Given the description of an element on the screen output the (x, y) to click on. 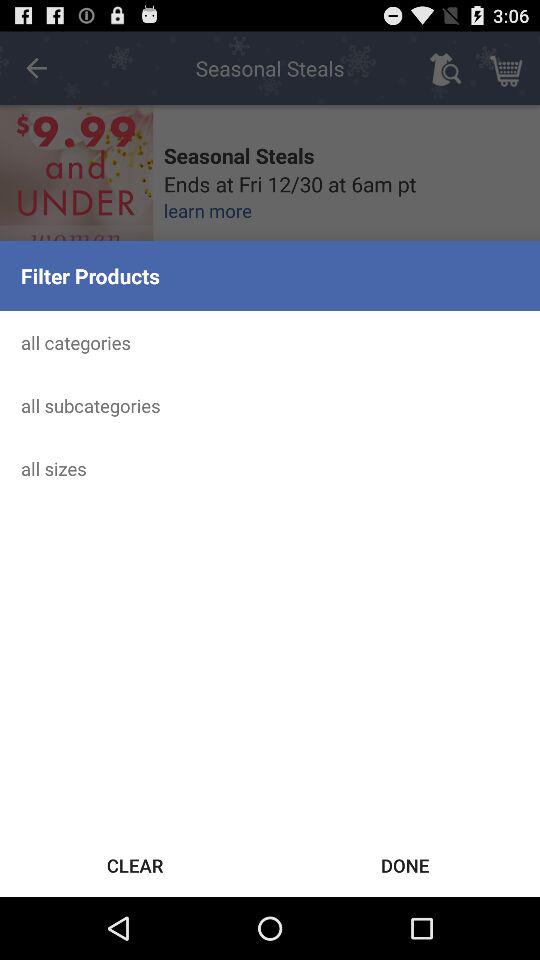
open the done at the bottom right corner (405, 864)
